Given the description of an element on the screen output the (x, y) to click on. 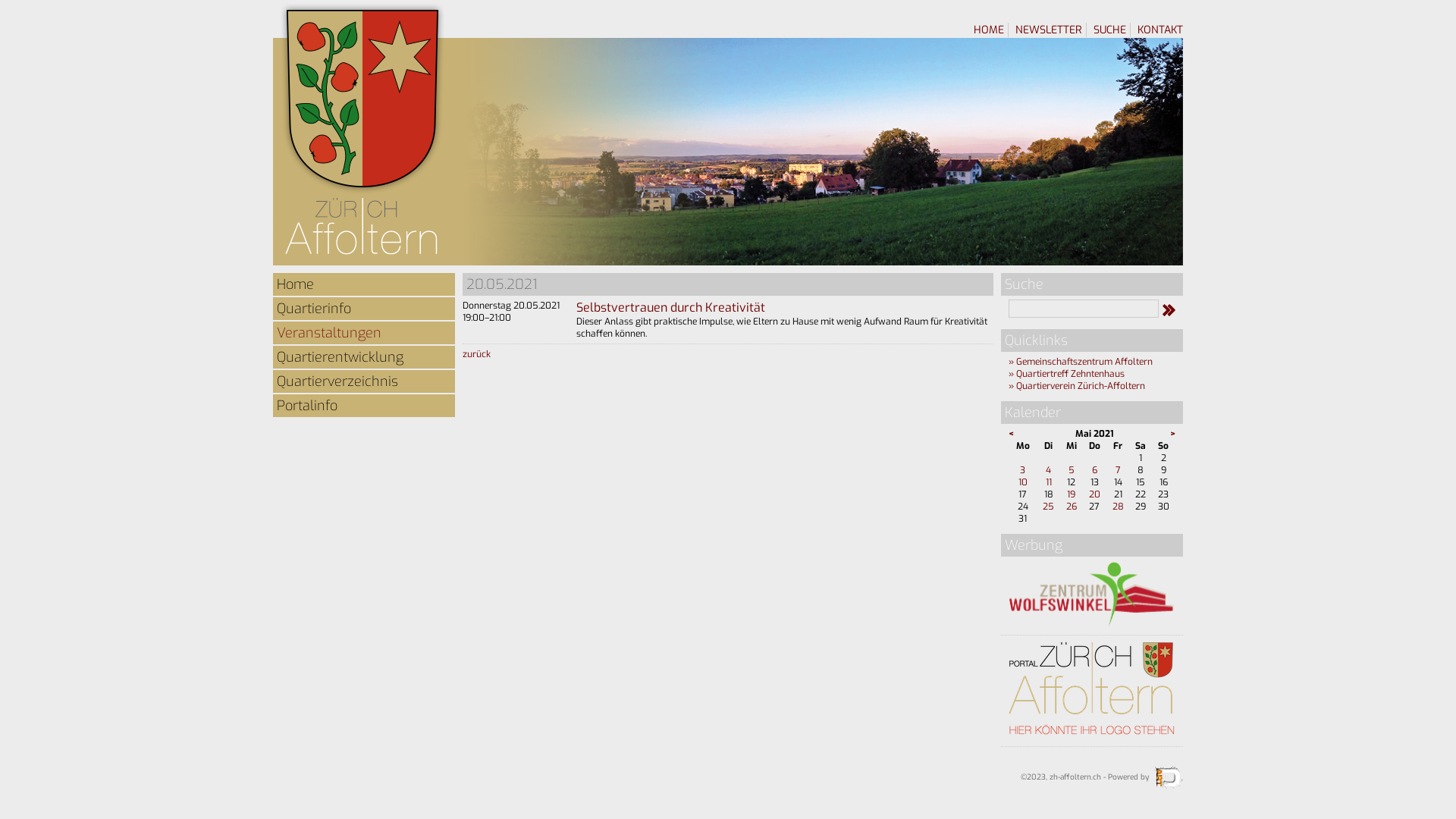
4 Element type: text (1048, 470)
25 Element type: text (1048, 506)
11 Element type: text (1048, 482)
Quartierverzeichnis Element type: text (364, 381)
d-ART.ch Element type: hover (1168, 776)
  Element type: text (1182, 45)
Quartierinfo Element type: text (364, 308)
7 Element type: text (1117, 470)
NEWSLETTER Element type: text (1048, 29)
SUCHE Element type: text (1109, 29)
5 Element type: text (1071, 470)
  Element type: text (1000, 400)
10 Element type: text (1022, 482)
Portalinfo Element type: text (364, 405)
28 Element type: text (1117, 506)
20 Element type: text (1094, 494)
  Element type: text (272, 425)
HOME Element type: text (988, 29)
Veranstaltungen Element type: text (364, 332)
KONTAKT Element type: text (1160, 29)
19 Element type: text (1070, 494)
3 Element type: text (1022, 470)
> Element type: text (1172, 433)
6 Element type: text (1094, 470)
< Element type: text (1010, 433)
26 Element type: text (1071, 506)
Home Element type: text (364, 284)
Quartierentwicklung Element type: text (364, 356)
